Given the description of an element on the screen output the (x, y) to click on. 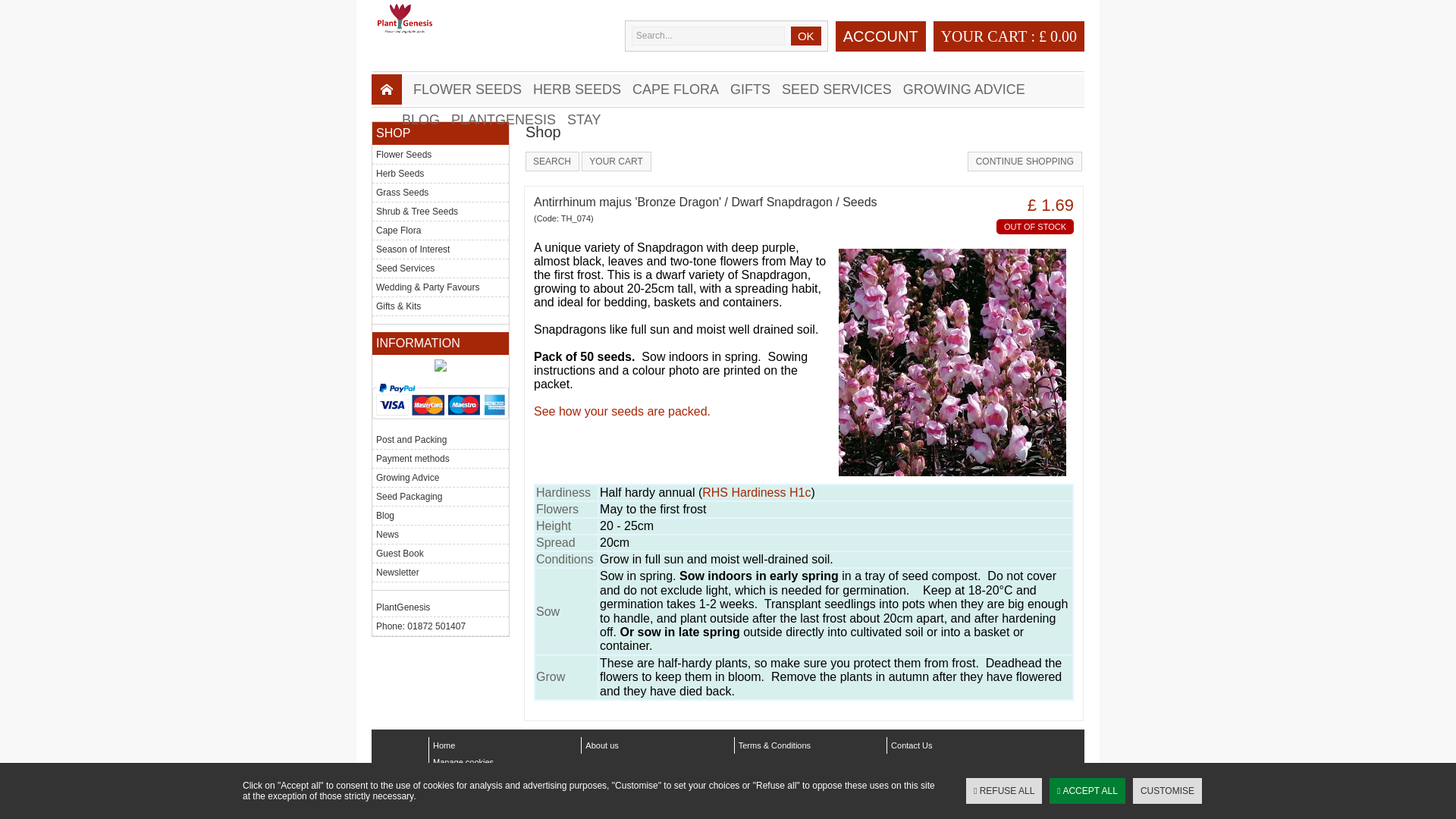
HERB SEEDS (581, 89)
YOUR CART (983, 36)
SEED SERVICES (841, 89)
ACCOUNT (880, 38)
Search... (707, 35)
OK (805, 35)
GIFTS (755, 89)
CAPE FLORA (680, 89)
Search... (707, 35)
FLOWER SEEDS (472, 89)
